Given the description of an element on the screen output the (x, y) to click on. 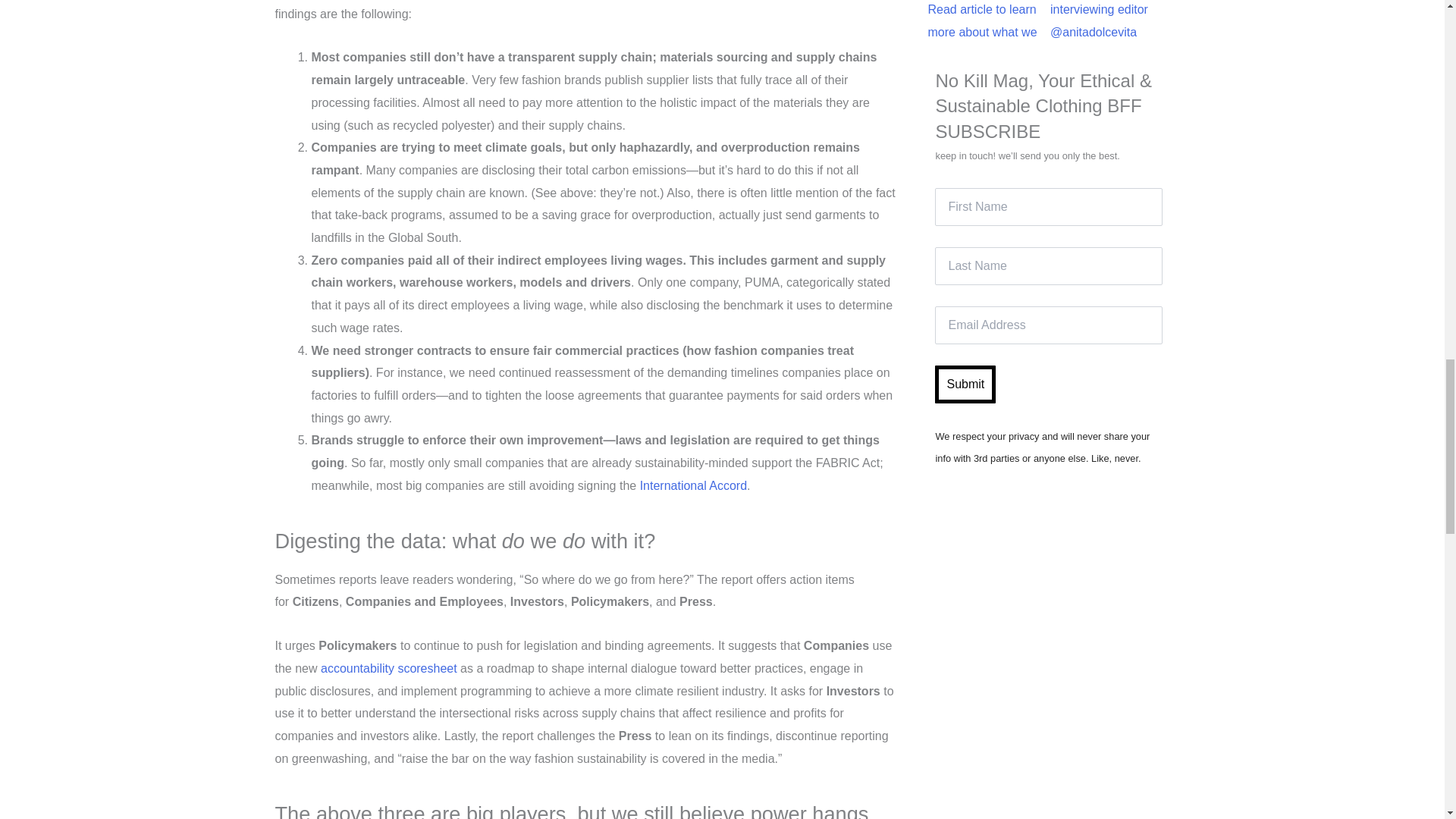
Submit (964, 384)
accountability scoresheet (388, 667)
International Accord (693, 485)
